Given the description of an element on the screen output the (x, y) to click on. 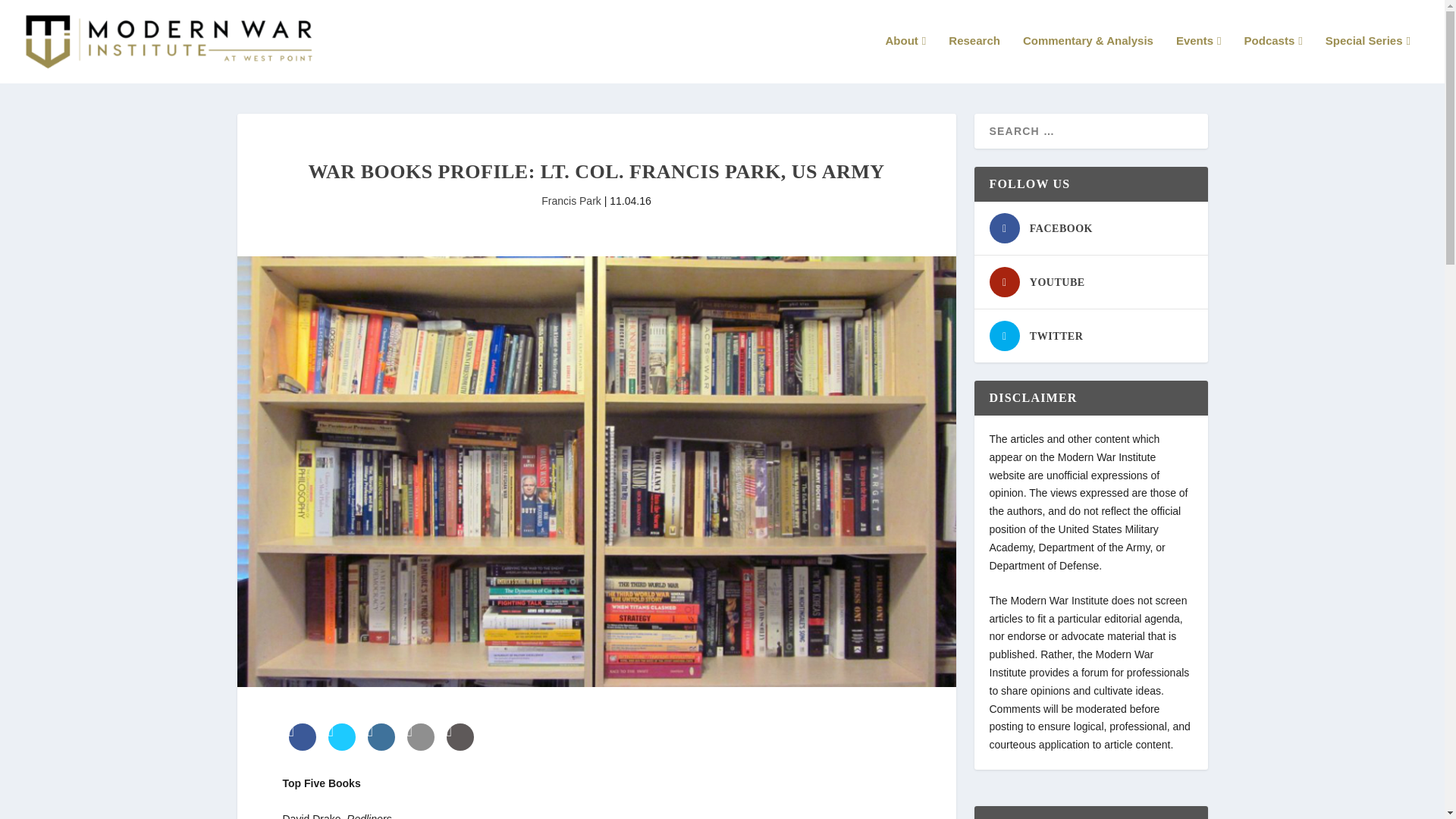
Research (974, 59)
Events (1198, 59)
Posts by Francis Park (571, 200)
Podcasts (1273, 59)
Special Series (1367, 59)
